Given the description of an element on the screen output the (x, y) to click on. 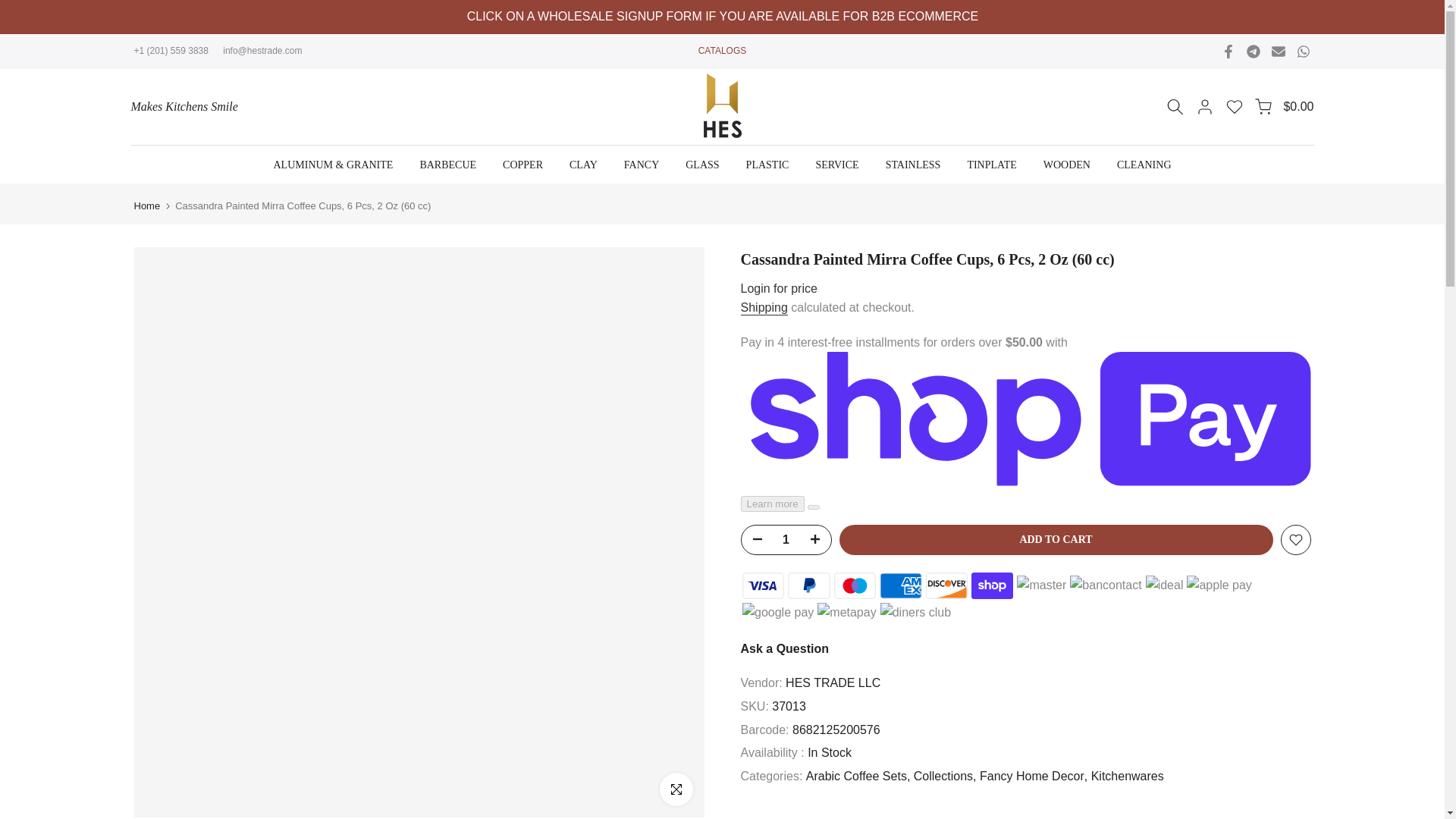
Ask a Question (783, 648)
COPPER (522, 165)
TINPLATE (991, 165)
1 (786, 539)
Shipping (763, 308)
Skip to content (10, 7)
Arabic Coffee Sets (858, 776)
CATALOGS (722, 50)
Login for price (777, 287)
SERVICE (837, 165)
